Given the description of an element on the screen output the (x, y) to click on. 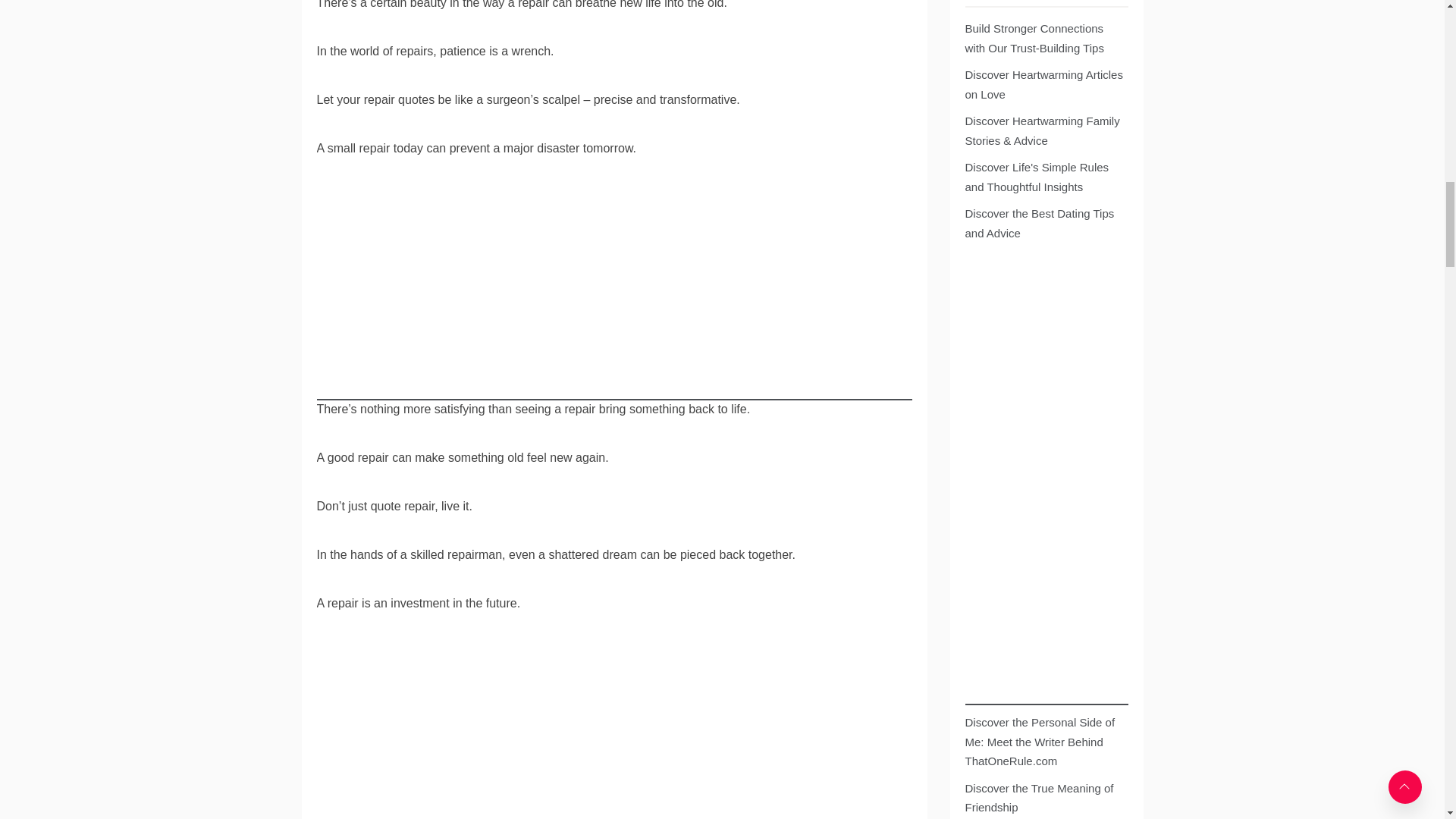
Advertisement (614, 730)
Discover Life's Simple Rules and Thoughtful Insights (1043, 177)
Discover Heartwarming Articles on Love (1043, 84)
Discover the Best Dating Tips and Advice (1043, 222)
Advertisement (614, 294)
Discover the True Meaning of Friendship (1043, 797)
Build Stronger Connections with Our Trust-Building Tips (1043, 37)
